Given the description of an element on the screen output the (x, y) to click on. 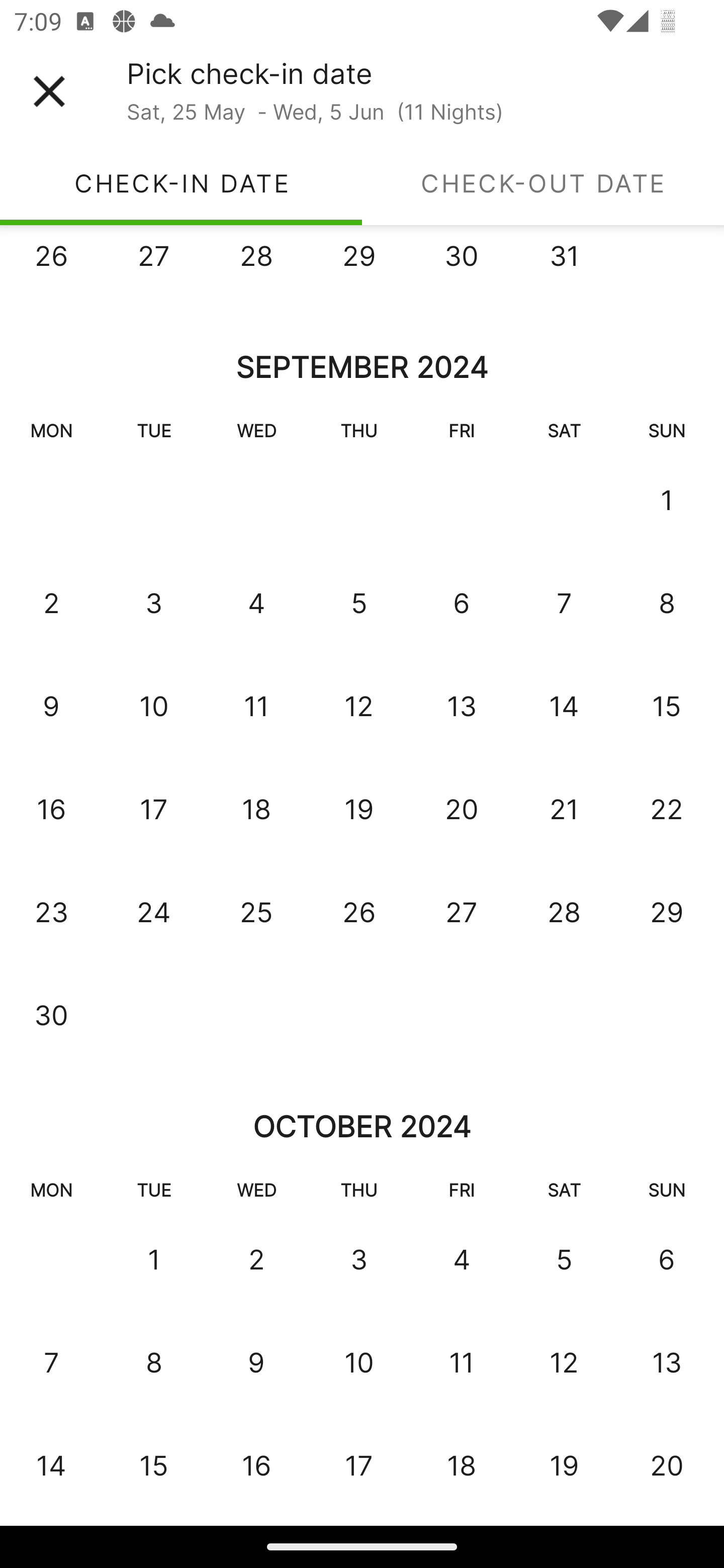
Check-out Date CHECK-OUT DATE (543, 183)
